Given the description of an element on the screen output the (x, y) to click on. 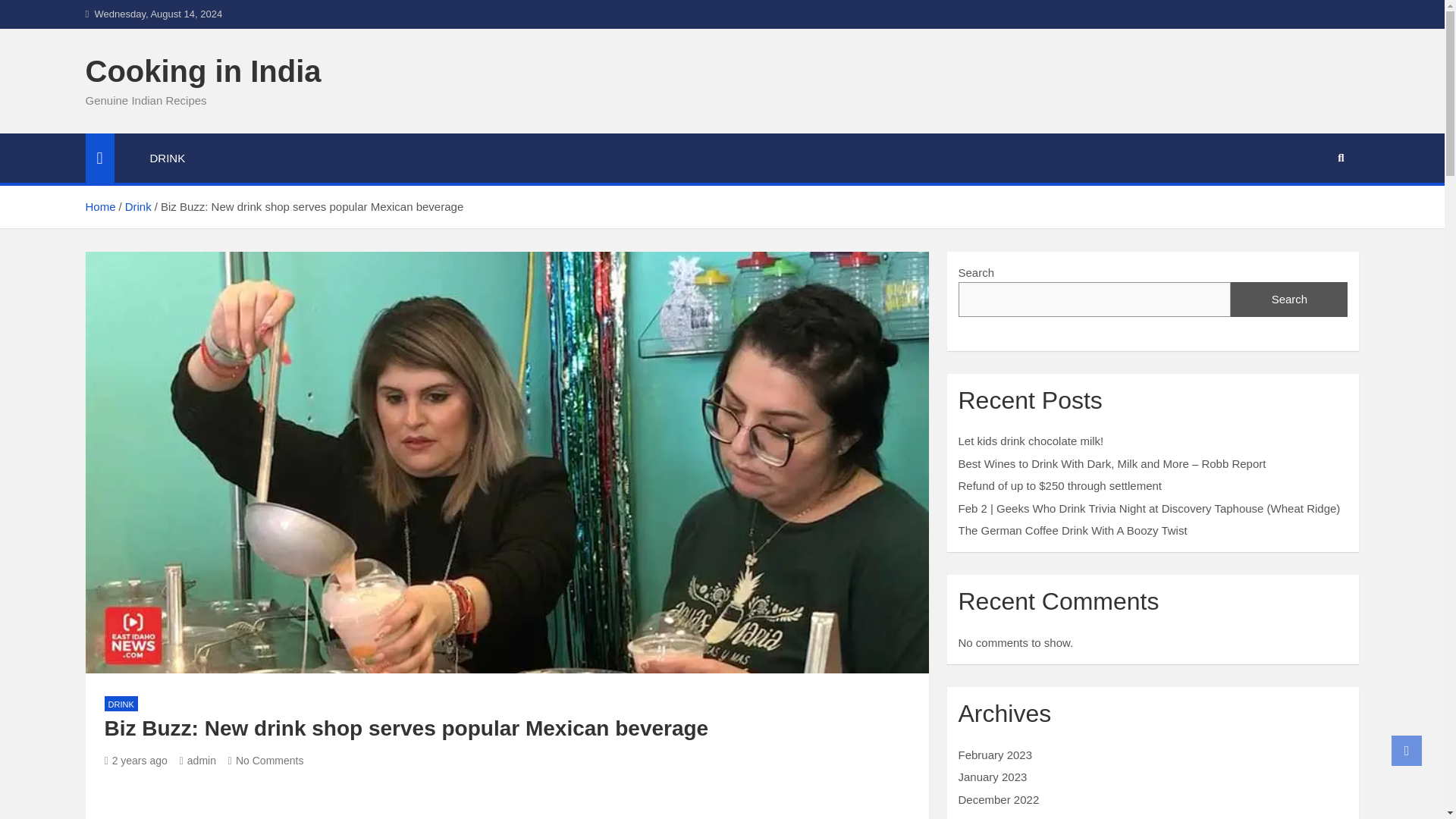
DRINK (167, 158)
Search (1289, 298)
2 years ago (135, 760)
January 2023 (992, 776)
No Comments (266, 760)
Let kids drink chocolate milk! (1030, 440)
February 2023 (995, 754)
admin (197, 760)
December 2022 (998, 799)
Drink (138, 205)
